Given the description of an element on the screen output the (x, y) to click on. 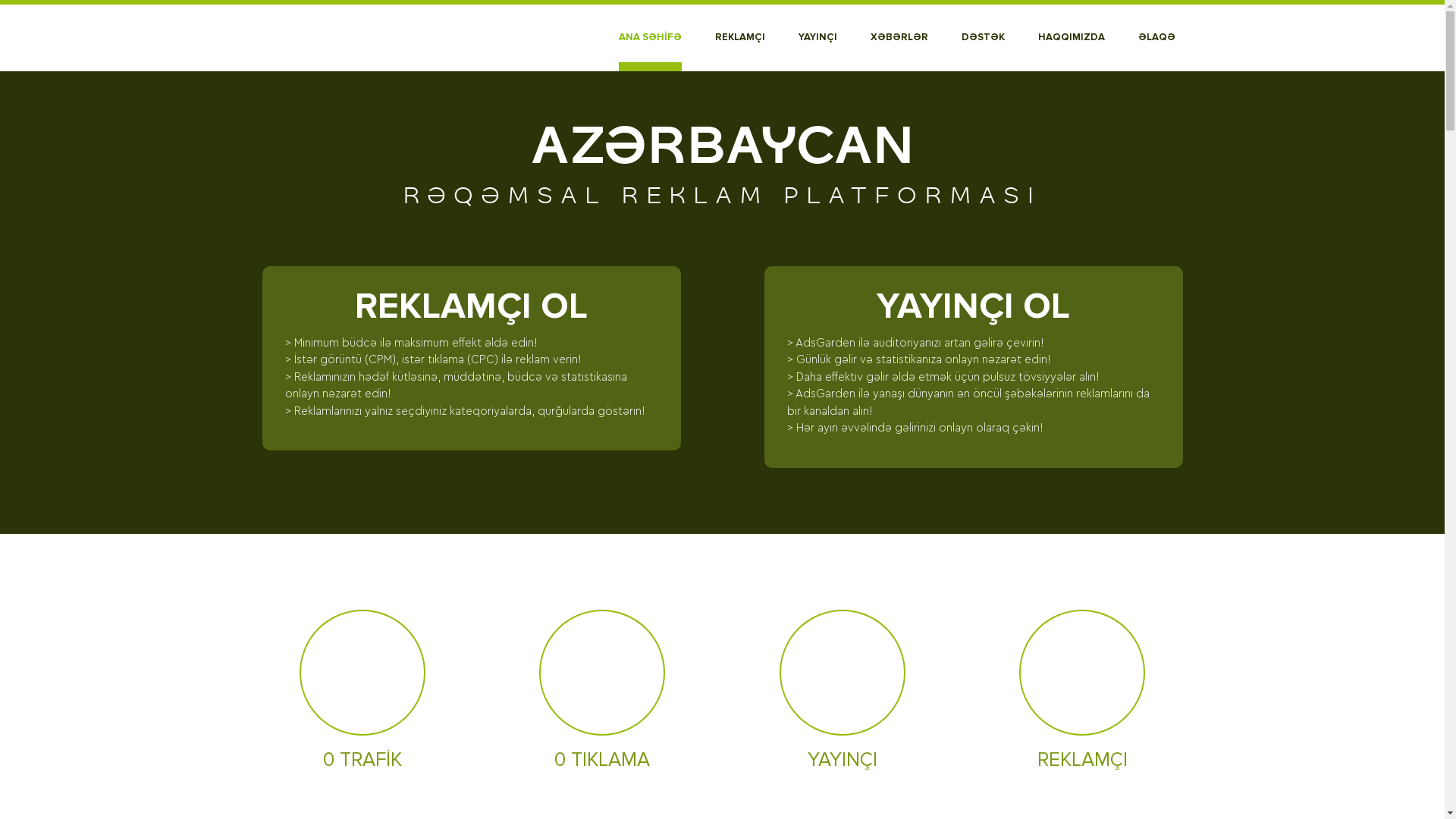
HAQQIMIZDA Element type: text (1070, 37)
